Given the description of an element on the screen output the (x, y) to click on. 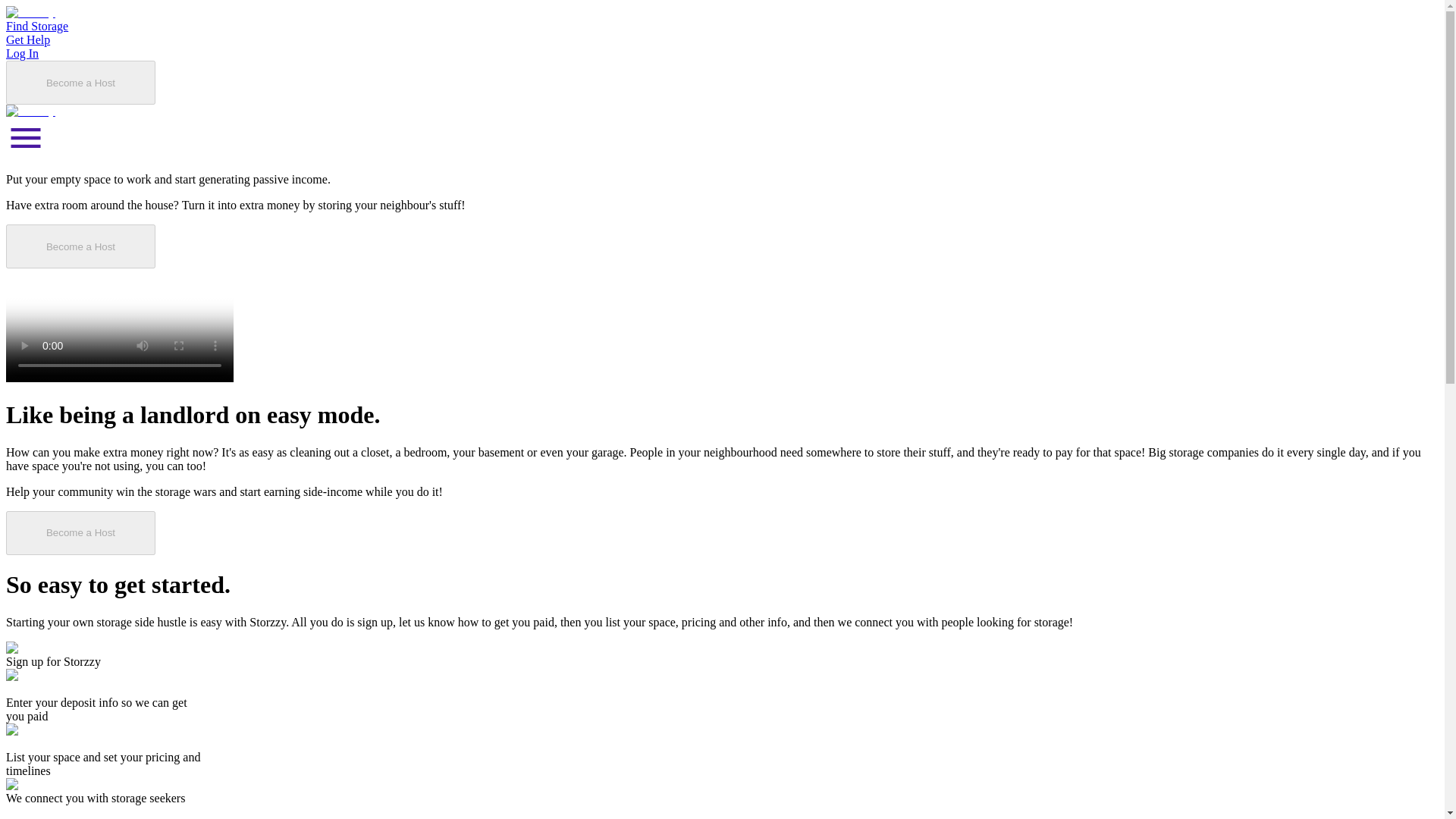
Log In (1115, 36)
Become a Host (1224, 36)
Get Help (1039, 36)
Find Storage (946, 36)
Become a Host (250, 453)
